Given the description of an element on the screen output the (x, y) to click on. 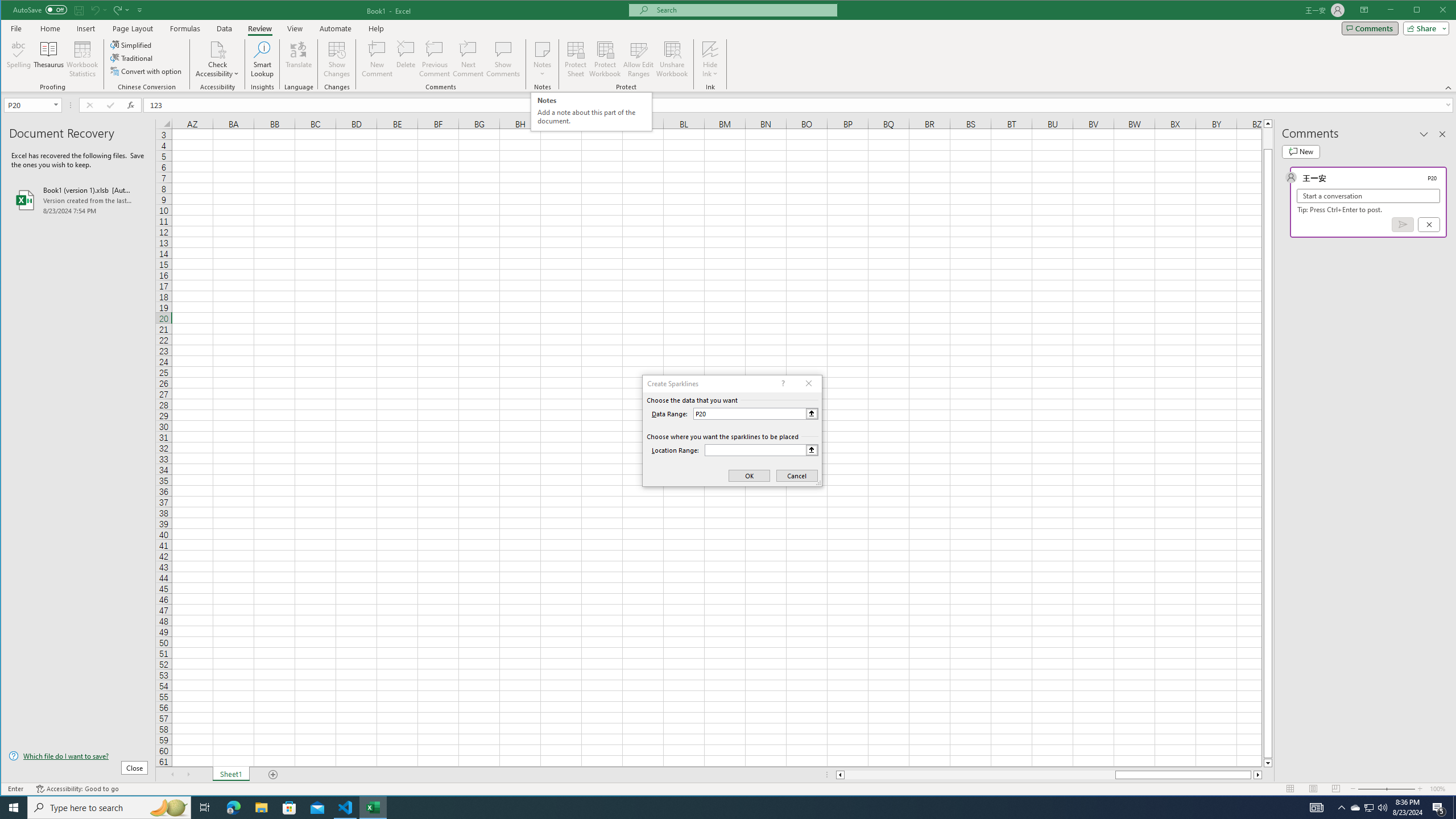
Convert with option (146, 70)
Check Accessibility (217, 48)
Protect Workbook... (604, 59)
Smart Lookup (261, 59)
